Given the description of an element on the screen output the (x, y) to click on. 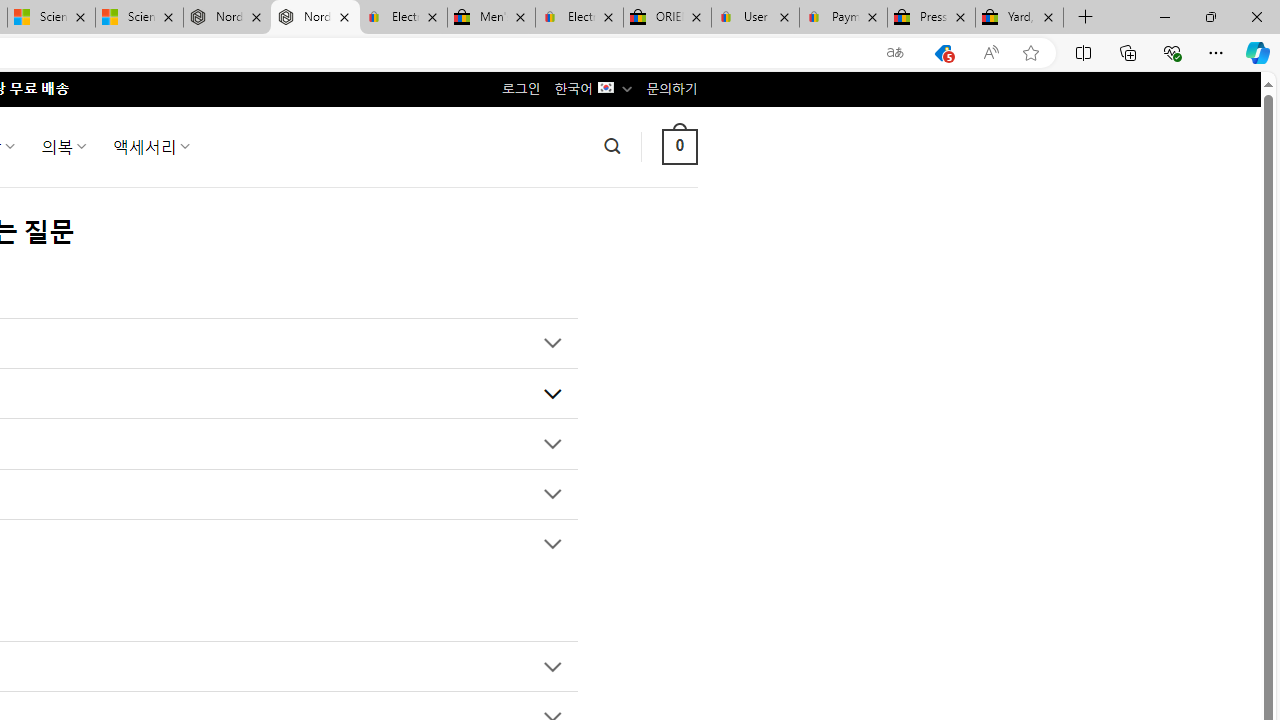
 0  (679, 146)
Payments Terms of Use | eBay.com (843, 17)
This site has coupons! Shopping in Microsoft Edge, 5 (943, 53)
